Given the description of an element on the screen output the (x, y) to click on. 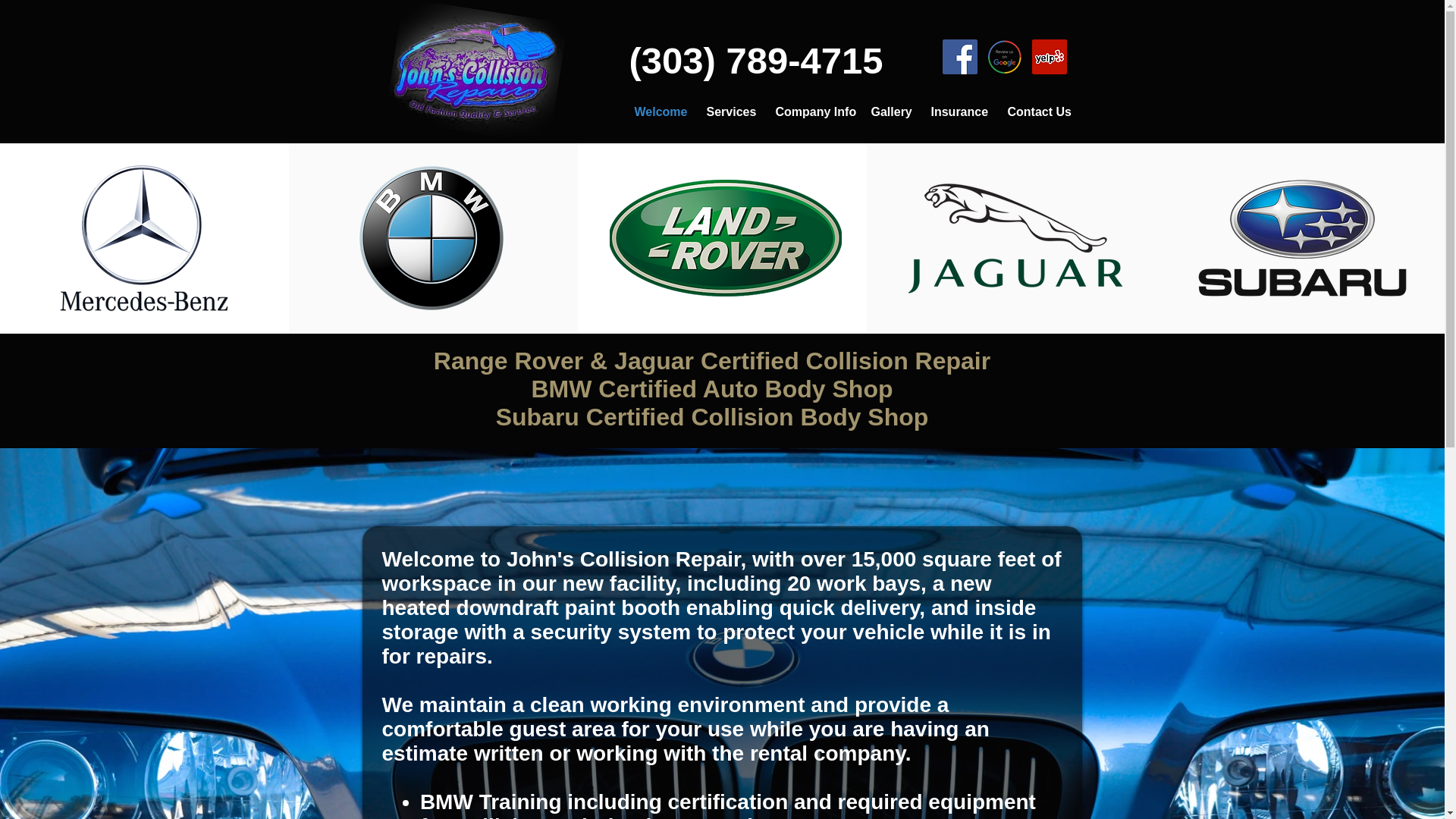
Gallery (888, 112)
Insurance (956, 112)
Welcome (657, 112)
Contact Us (1034, 112)
Services (728, 112)
Company Info (810, 112)
